Given the description of an element on the screen output the (x, y) to click on. 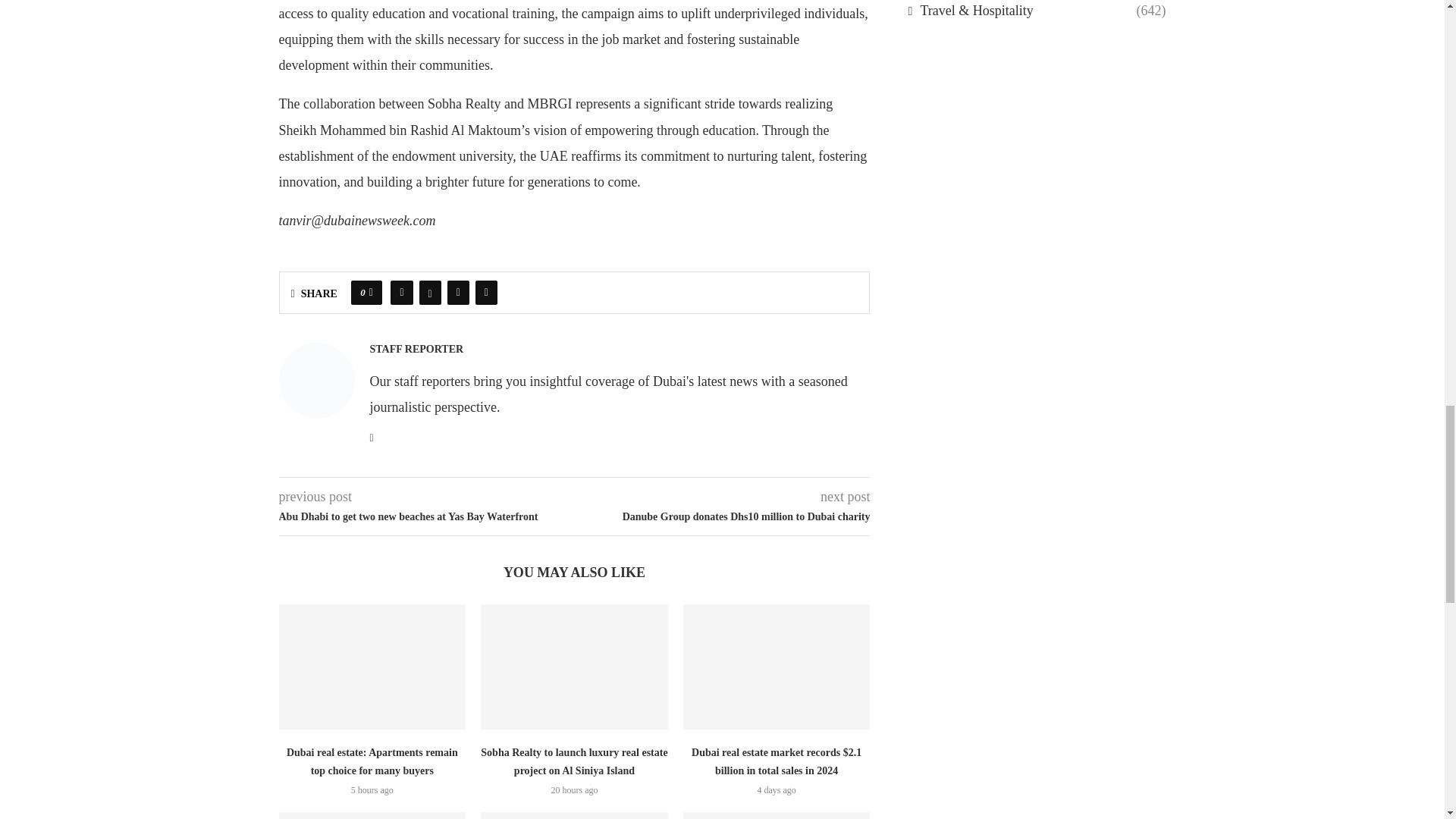
Author Staff Reporter (416, 350)
Emaar achieves significant milestones in H1 2024 (574, 815)
